Given the description of an element on the screen output the (x, y) to click on. 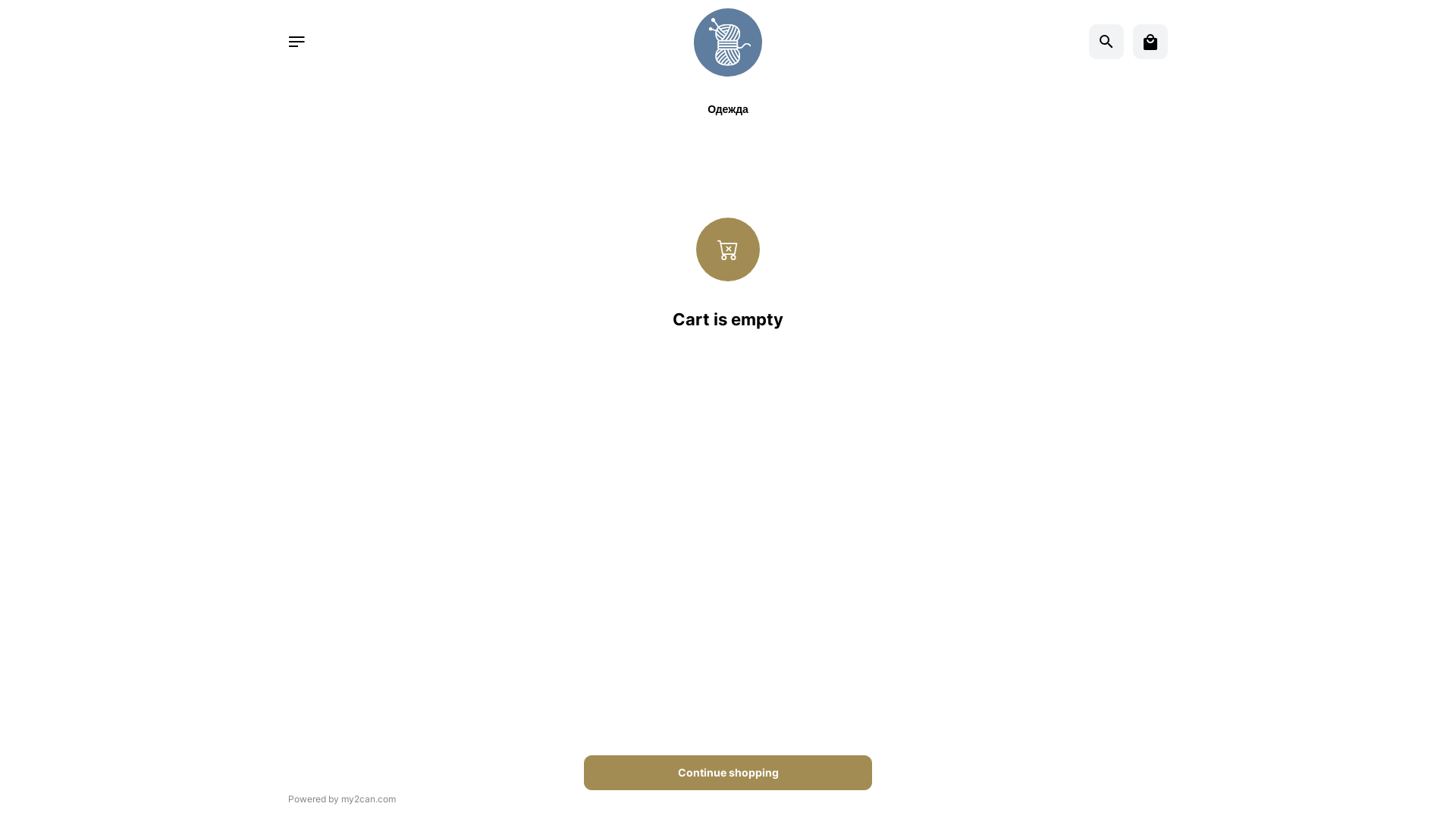
Continue shopping Element type: text (727, 772)
my2can.com Element type: text (368, 798)
